Given the description of an element on the screen output the (x, y) to click on. 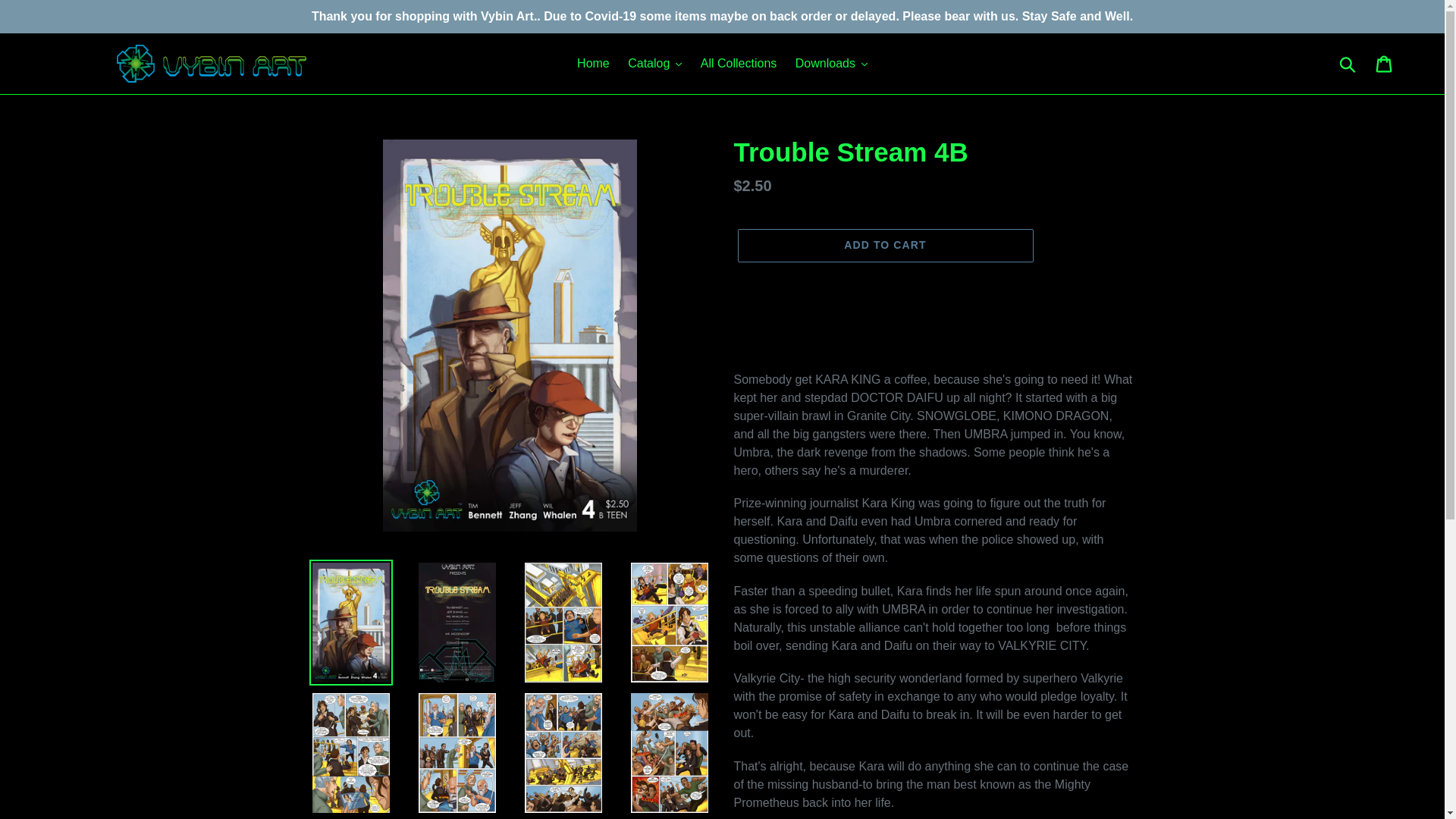
Cart (1385, 63)
All Collections (738, 63)
Submit (1348, 63)
Home (593, 63)
